Given the description of an element on the screen output the (x, y) to click on. 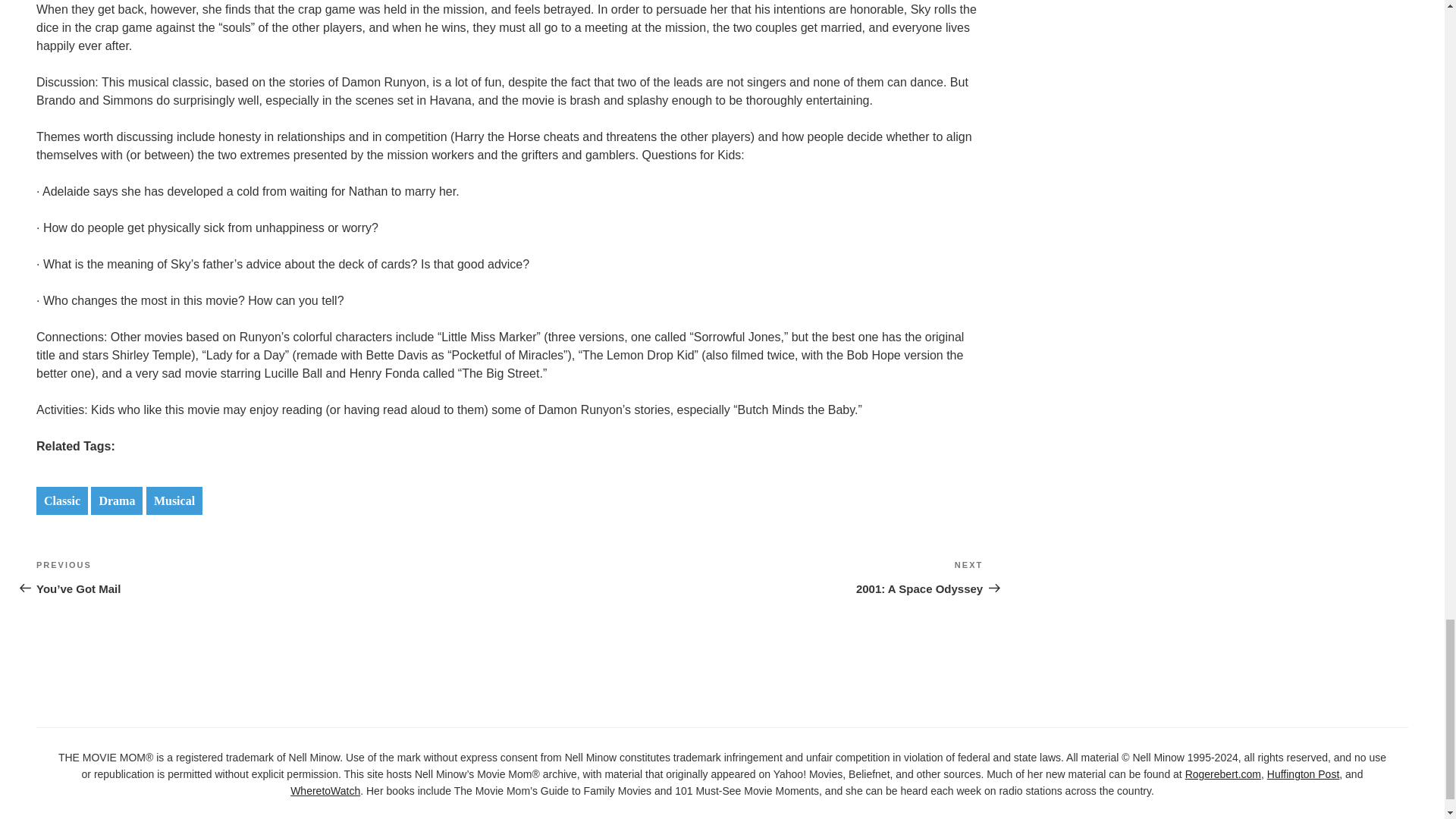
Rogerebert.com (1222, 774)
Classic (61, 500)
Huffington Post (1302, 774)
Musical (174, 500)
Drama (745, 576)
WheretoWatch (116, 500)
